Given the description of an element on the screen output the (x, y) to click on. 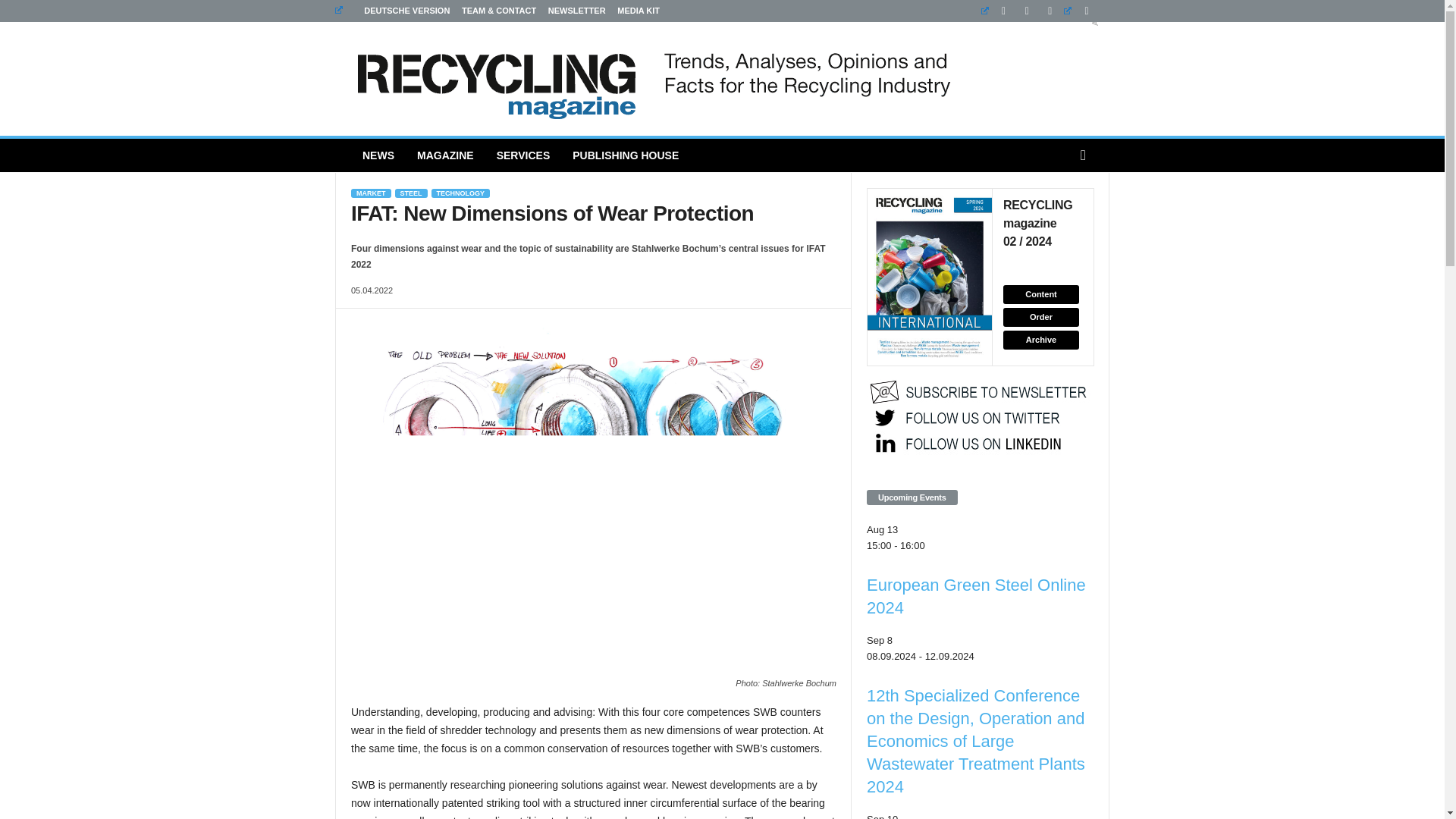
Linkedin (997, 11)
NEWSLETTER (576, 10)
MEDIA KIT (638, 10)
Twitter (1080, 11)
DEUTSCHE VERSION (391, 10)
